Given the description of an element on the screen output the (x, y) to click on. 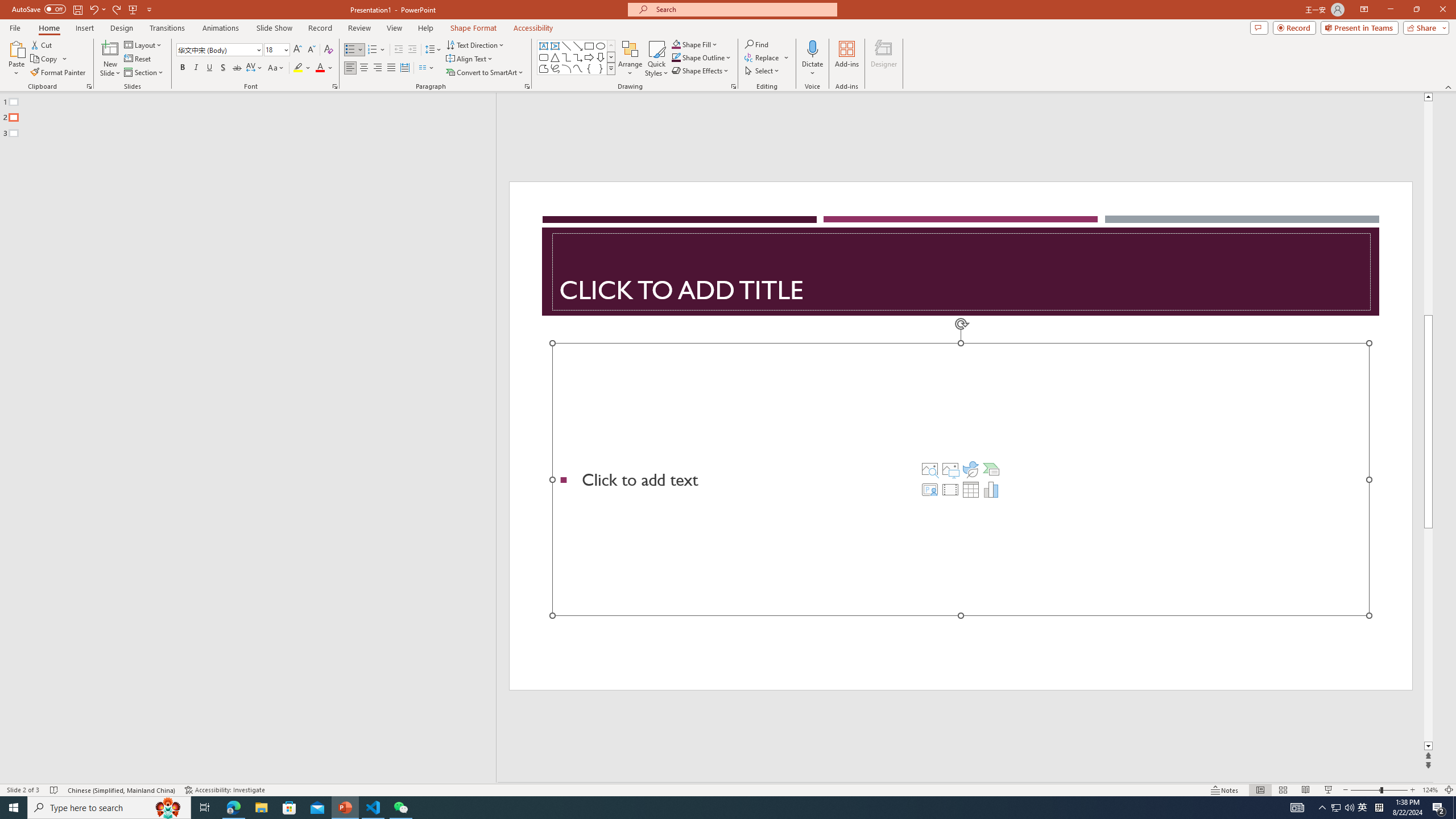
Insert Video (949, 489)
